Given the description of an element on the screen output the (x, y) to click on. 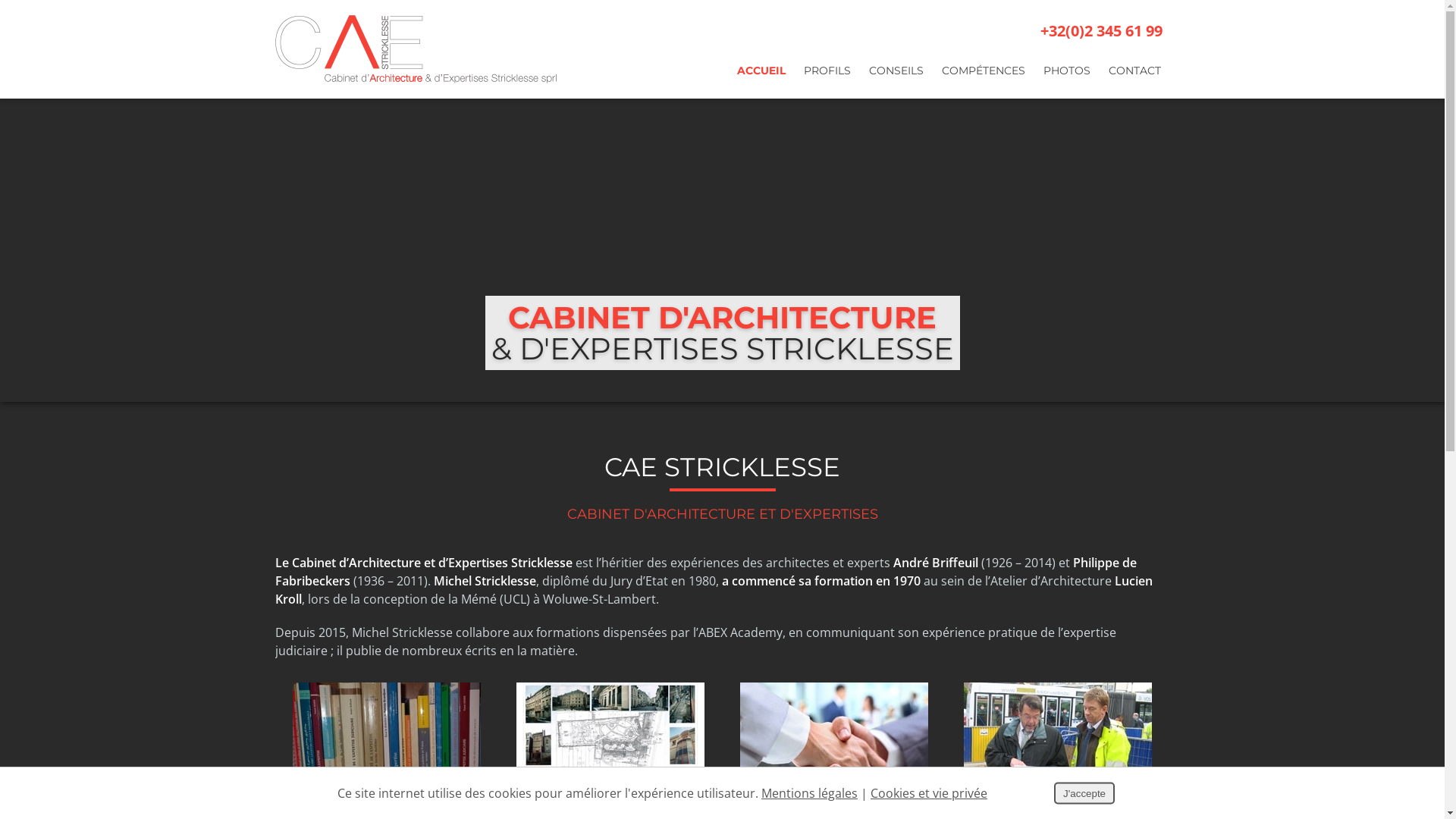
PROFILS Element type: text (826, 73)
CONSEILS Element type: text (896, 73)
Conseil Technique Element type: hover (1057, 745)
+32(0)2 345 61 99 Element type: text (1090, 30)
Expertises Element type: hover (386, 745)
CONTACT Element type: text (1134, 73)
Architecture Element type: hover (610, 745)
Partager ce contenu Element type: text (1418, 447)
PHOTOS Element type: text (1066, 73)
ACCUEIL Element type: text (761, 73)
